Given the description of an element on the screen output the (x, y) to click on. 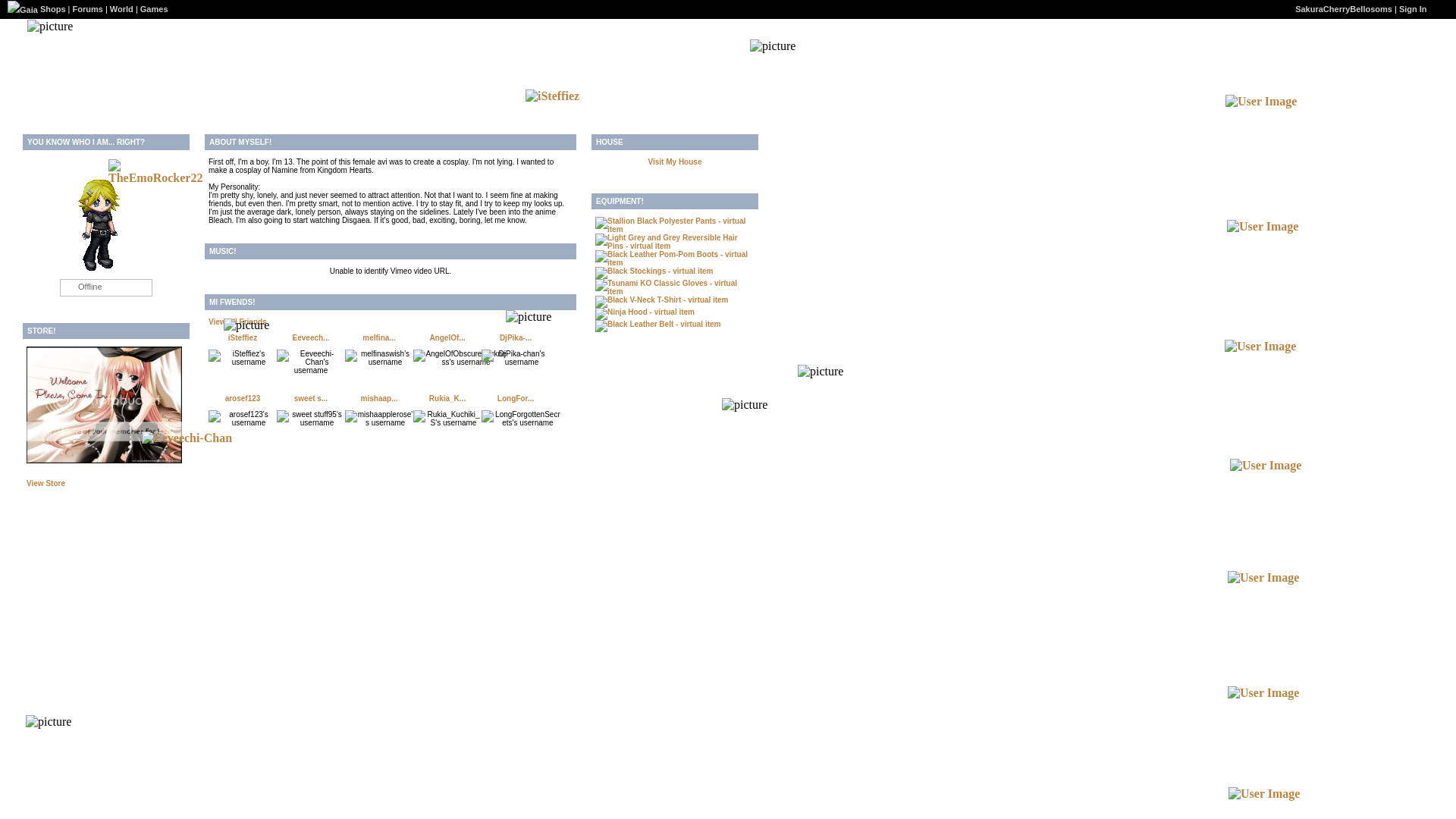
View Store (45, 483)
sweet s... (310, 397)
LongFor... (515, 397)
15398902 (242, 357)
mishaap... (379, 397)
20105599 (447, 418)
Sign In (1412, 8)
13895401 (310, 418)
AngelOf... (446, 337)
Forums (87, 8)
